Given the description of an element on the screen output the (x, y) to click on. 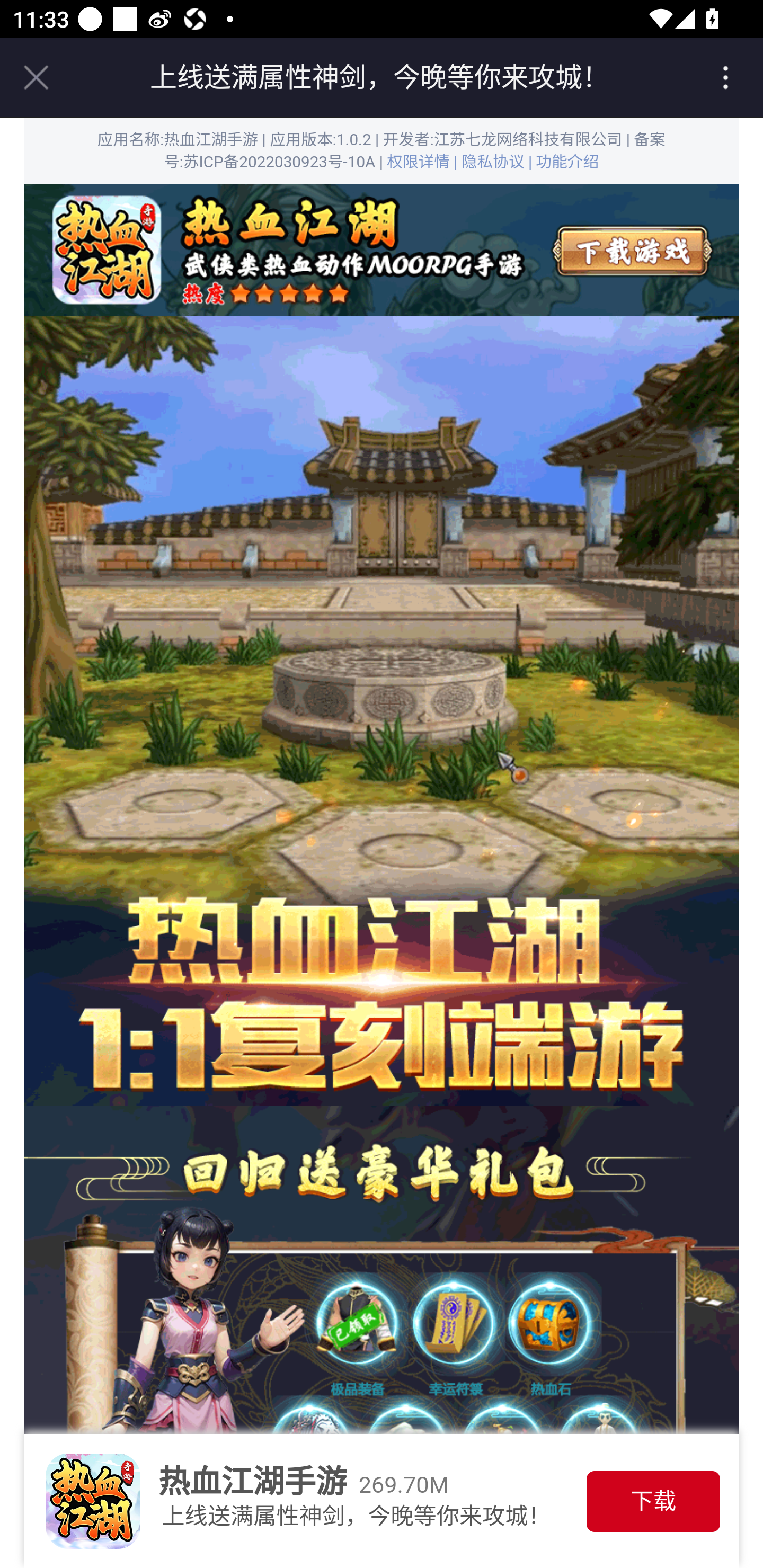
上线送满属性神剑，今晚等你来攻城！ (379, 77)
0?tp=webp (381, 249)
下载 (653, 1500)
